Given the description of an element on the screen output the (x, y) to click on. 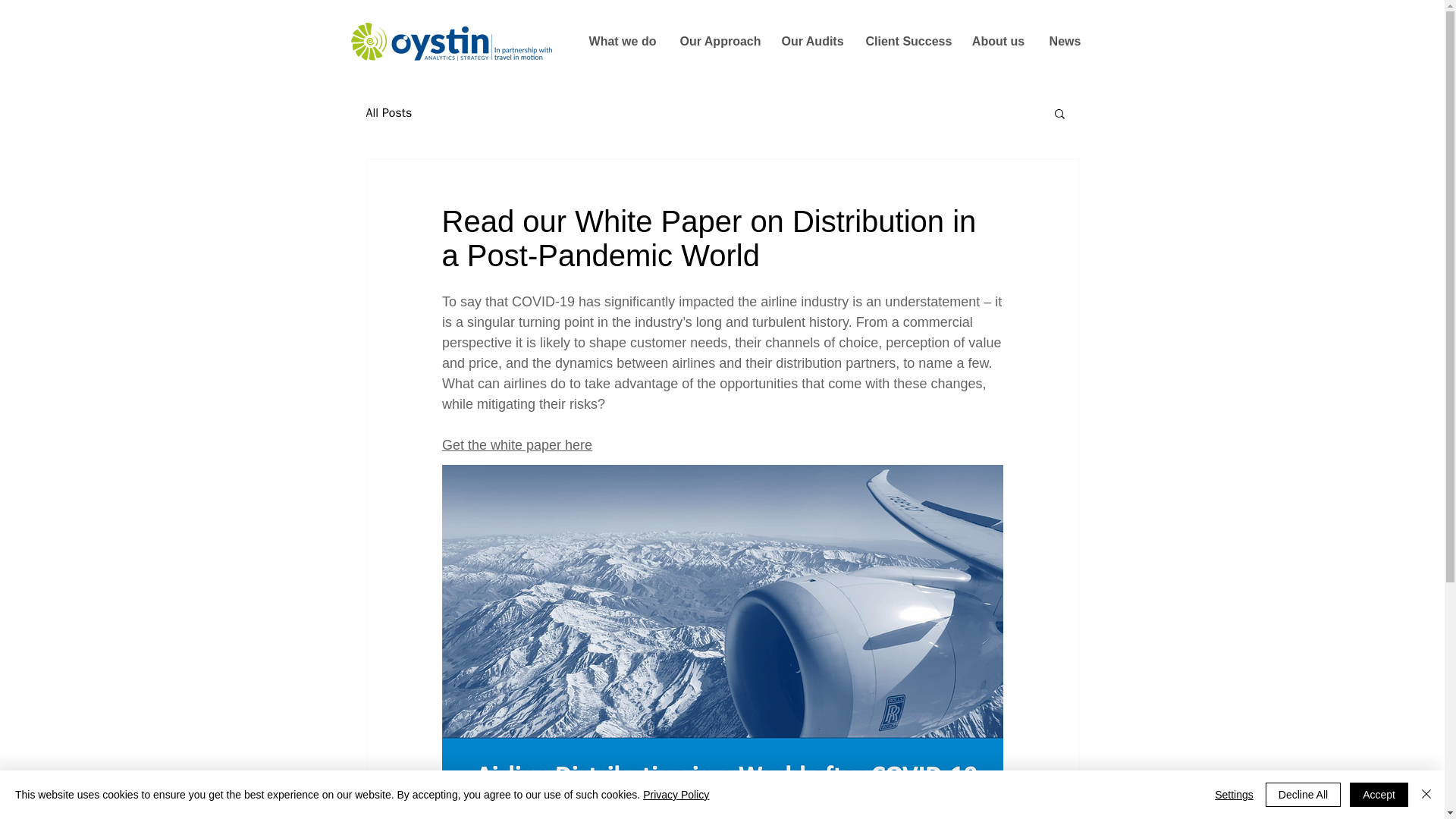
About us (997, 41)
Our Approach (719, 41)
Decline All (1302, 794)
Client Success (906, 41)
Our Audits (812, 41)
News (1064, 41)
Privacy Policy (676, 794)
What we do (622, 41)
Get the white paper here (516, 444)
All Posts (388, 112)
Accept (1378, 794)
